Given the description of an element on the screen output the (x, y) to click on. 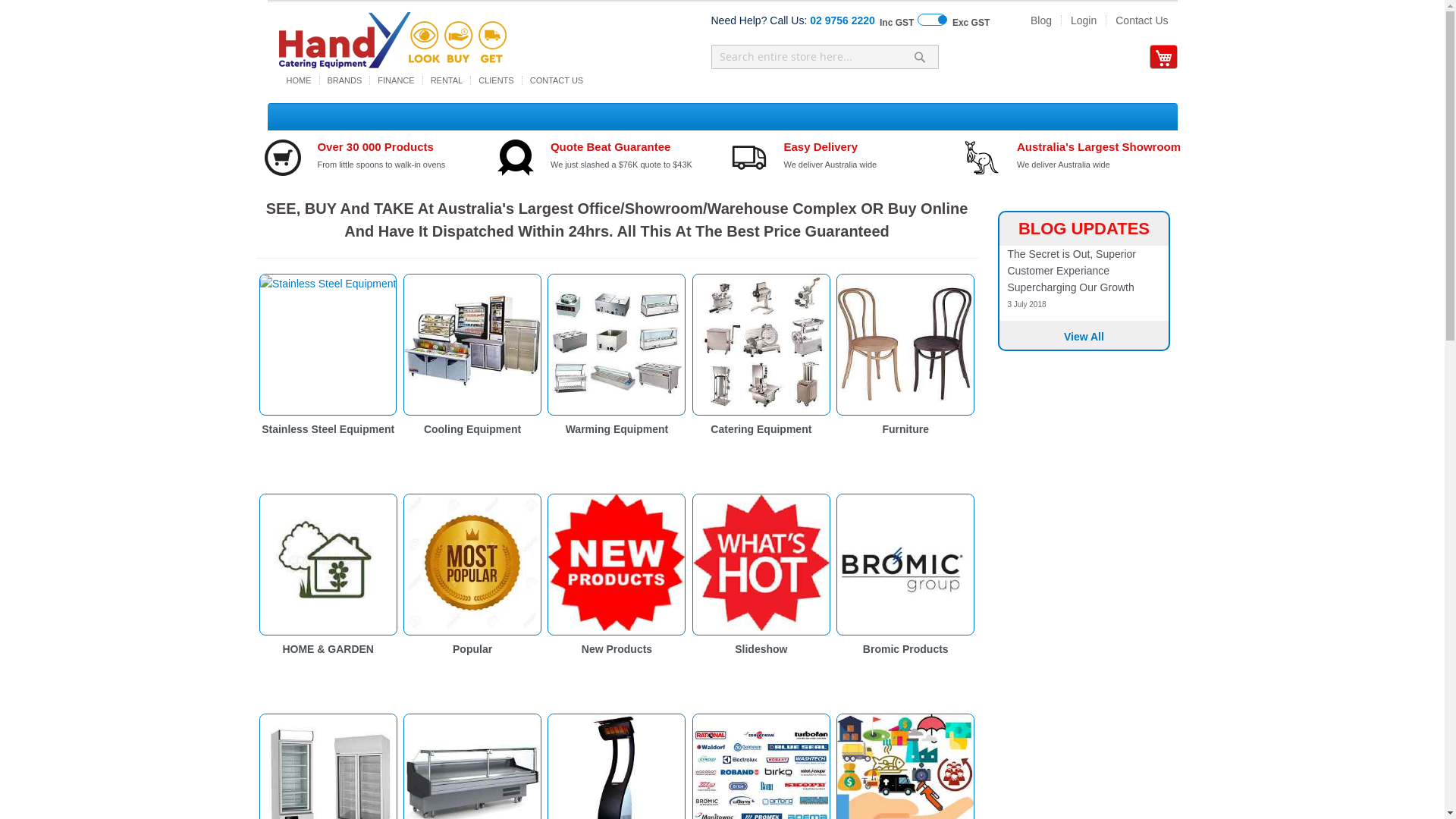
Login Element type: text (1083, 20)
Cooling Equipment Element type: text (471, 429)
Australia'S Largest Showroom Element type: text (1098, 146)
Stainless Steel Equipment Element type: text (327, 429)
RENTAL Element type: text (446, 79)
Bromic Products Element type: text (905, 649)
HOME & GARDEN Element type: text (327, 649)
CLIENTS Element type: text (495, 79)
Quote Beat Guarantee Element type: text (610, 146)
Contact Us Element type: text (1141, 20)
View All Element type: text (1083, 336)
Blog Element type: text (1040, 20)
My Cart Element type: text (1162, 57)
Catering Equipment Element type: text (760, 429)
CONTACT US Element type: text (556, 79)
Over 30 000 Products Element type: text (374, 146)
Easy Delivery Element type: text (820, 146)
Furniture Element type: text (905, 429)
Popular Element type: text (472, 649)
HOME Element type: text (299, 79)
BRANDS Element type: text (345, 79)
Search Element type: text (919, 56)
Slideshow Element type: text (760, 649)
New Products Element type: text (616, 649)
Warming Equipment Element type: text (616, 429)
FINANCE Element type: text (395, 79)
